Given the description of an element on the screen output the (x, y) to click on. 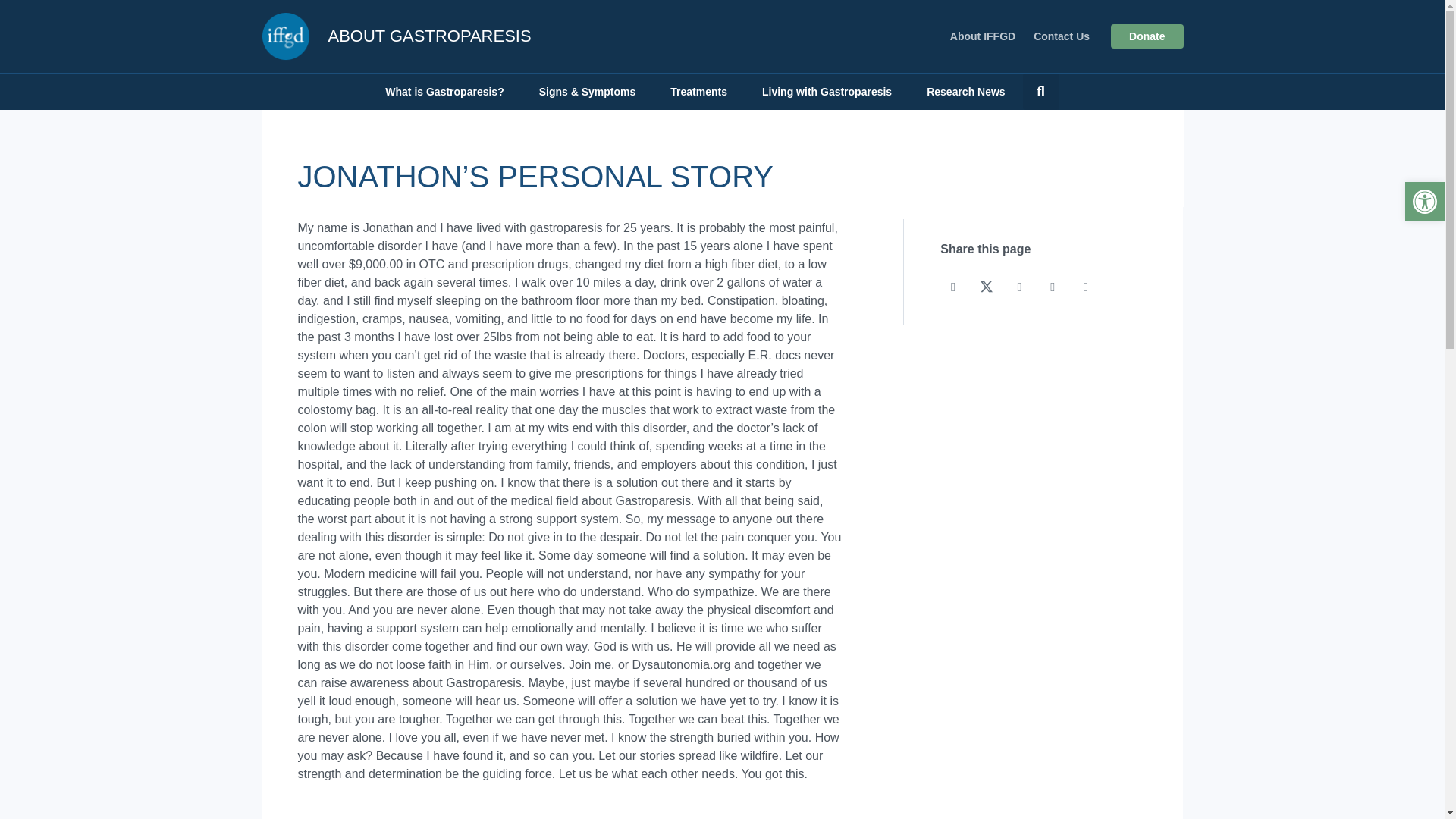
Living with Gastroparesis (826, 91)
About IFFGD (982, 35)
What is Gastroparesis? (444, 91)
Donate (1146, 36)
Treatments (697, 91)
Accessibility Tools (1424, 201)
Contact Us (1061, 35)
